Given the description of an element on the screen output the (x, y) to click on. 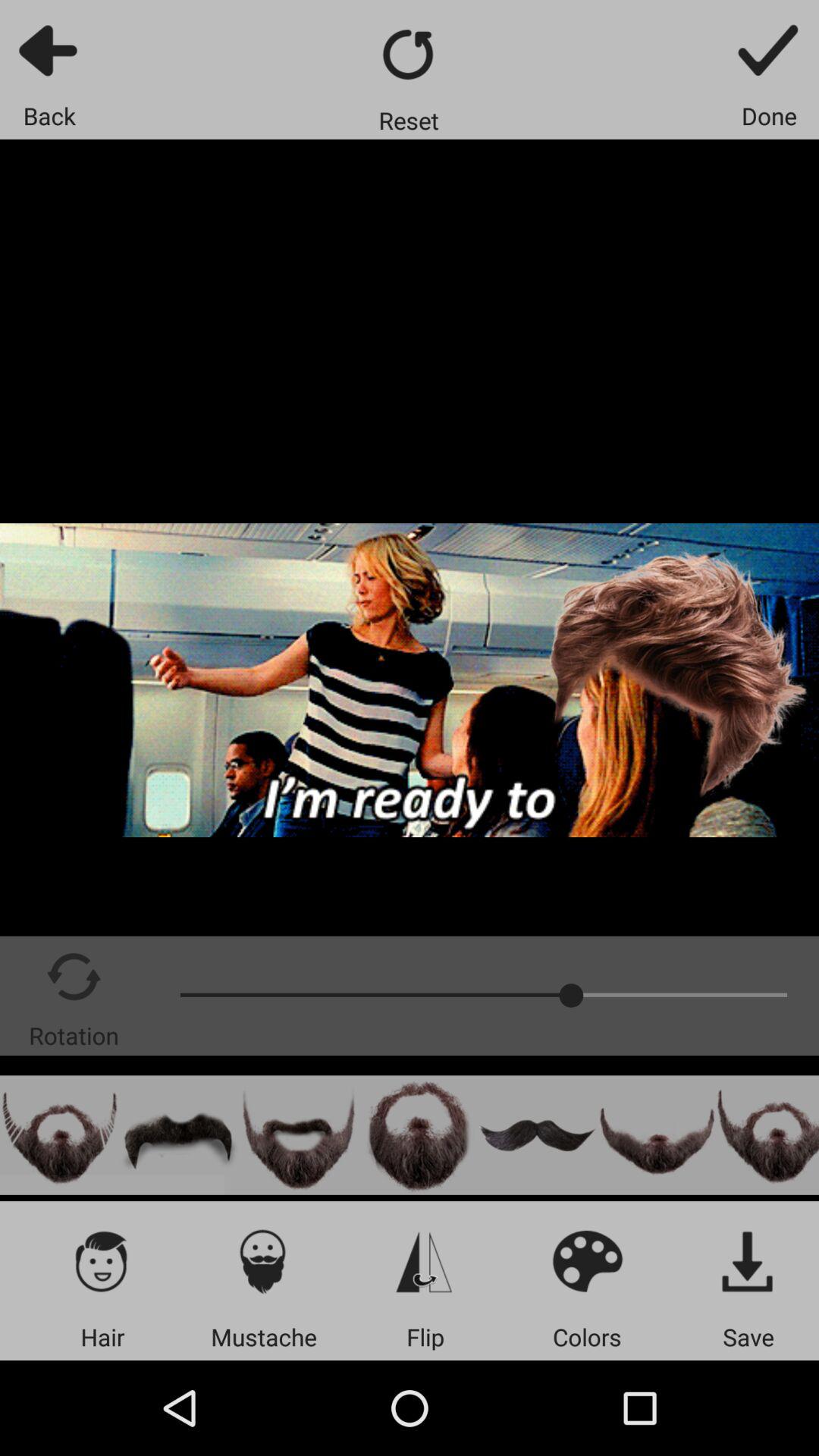
edit hair icon (102, 1260)
